Given the description of an element on the screen output the (x, y) to click on. 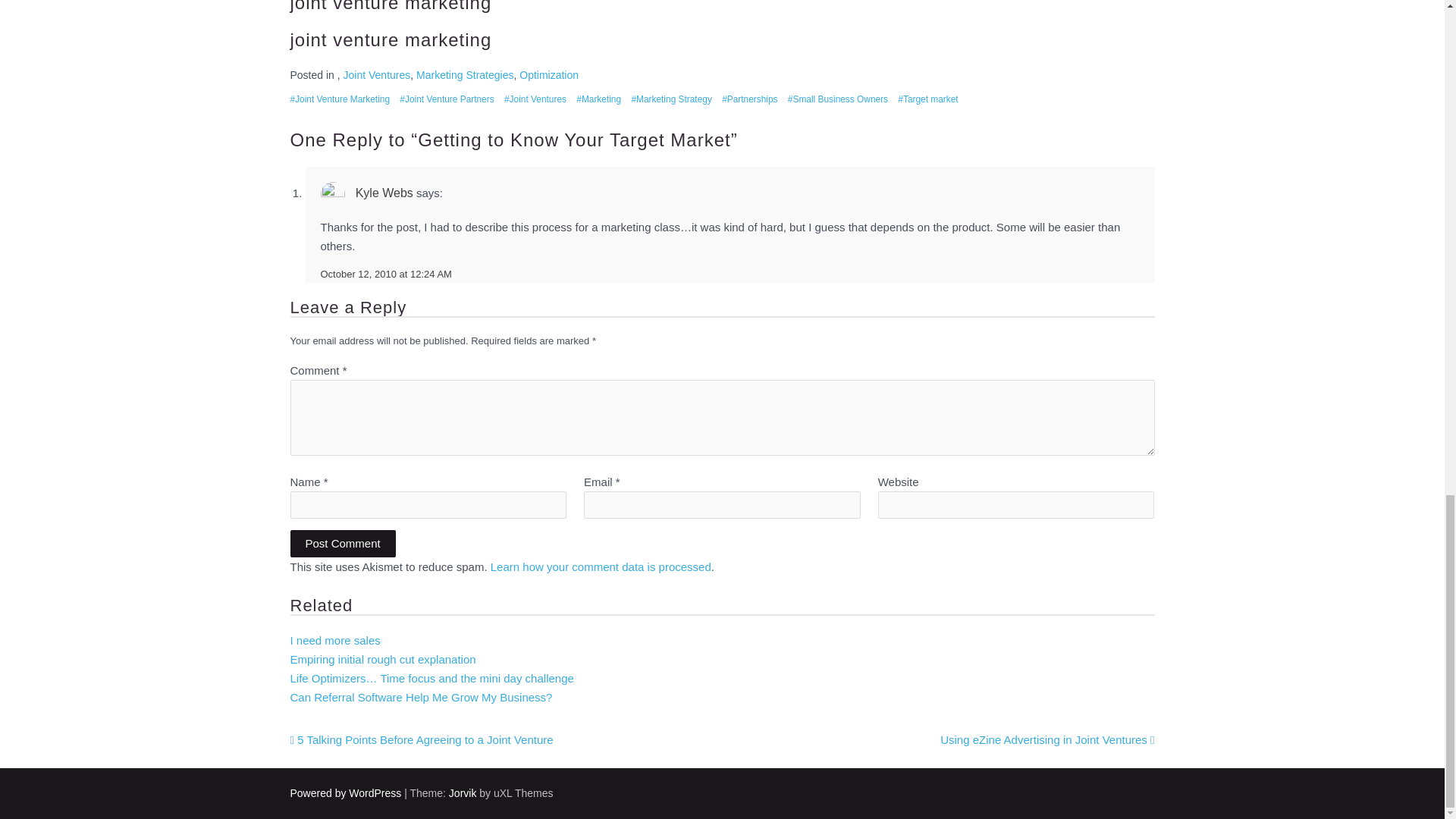
Joint Ventures (376, 74)
Marketing Strategies (464, 74)
Marketing Strategy (670, 99)
Optimization (548, 74)
Powered by WordPress (345, 793)
Can Referral Software Help Me Grow My Business? (420, 697)
5 Talking Points Before Agreeing to a Joint Venture (421, 739)
Using eZine Advertising in Joint Ventures (1047, 739)
Target market (928, 99)
Joint Ventures (534, 99)
Small Business Owners (837, 99)
Joint Venture Marketing (339, 99)
Jorvik (462, 793)
I need more sales (334, 640)
Marketing (598, 99)
